Given the description of an element on the screen output the (x, y) to click on. 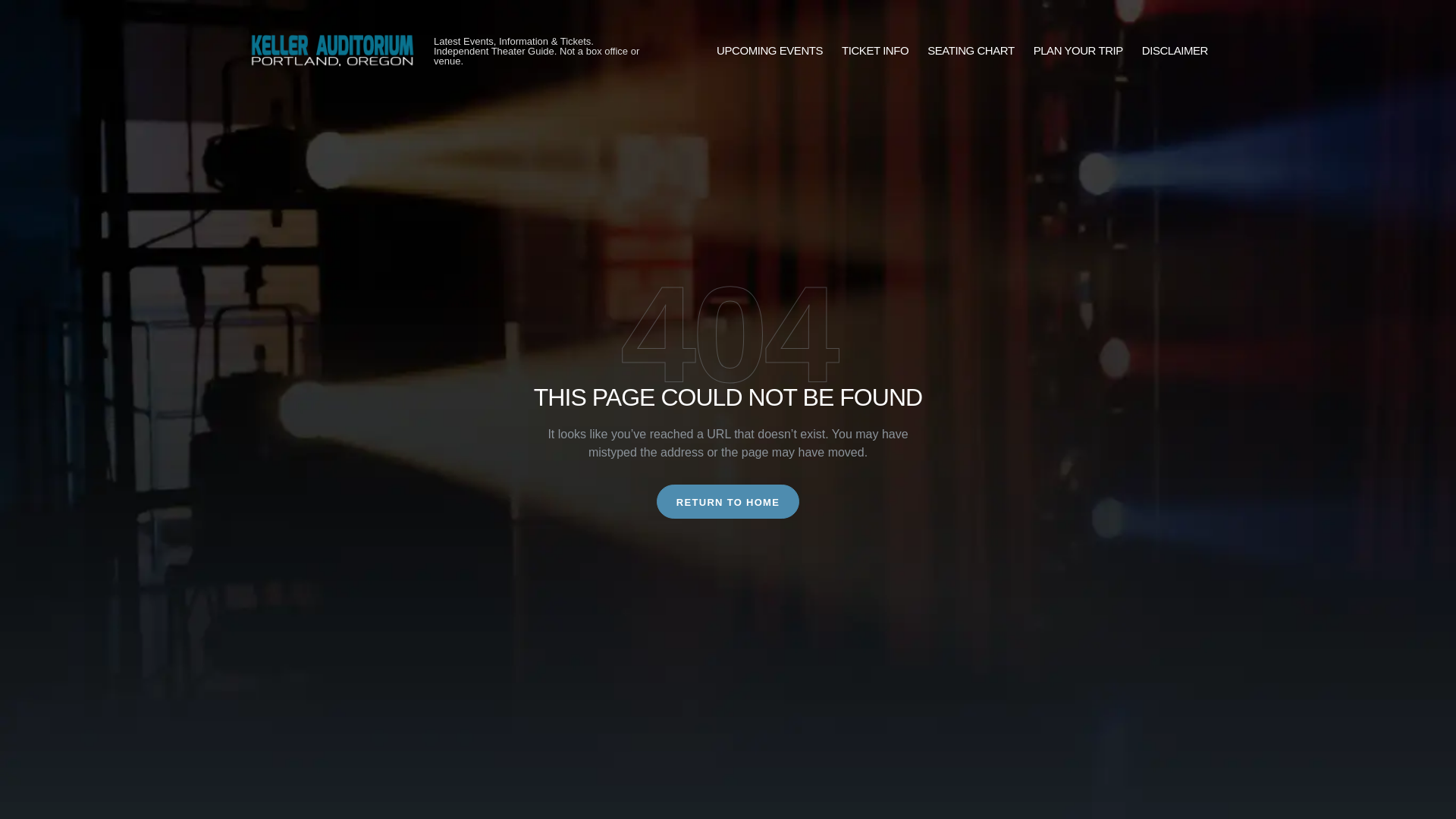
DISCLAIMER (1174, 50)
RETURN TO HOME (727, 501)
PLAN YOUR TRIP (1077, 50)
SEATING CHART (970, 50)
UPCOMING EVENTS (769, 50)
TICKET INFO (874, 50)
